Given the description of an element on the screen output the (x, y) to click on. 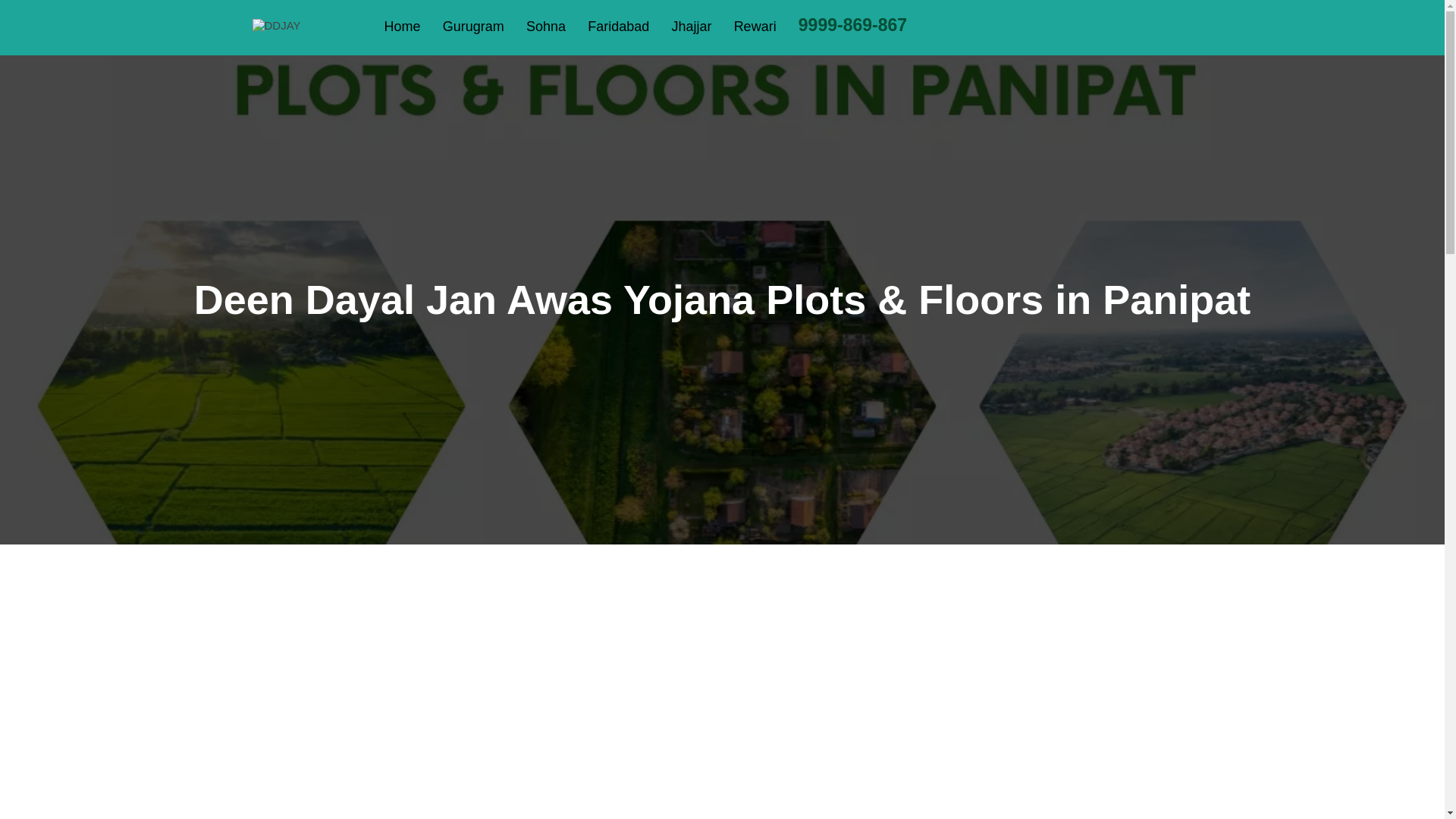
Sohna (545, 26)
Home (402, 26)
Jhajjar (691, 26)
Gurugram (472, 26)
Faridabad (618, 26)
DDJAY (275, 24)
9999-869-867 (852, 25)
Rewari (754, 26)
